Given the description of an element on the screen output the (x, y) to click on. 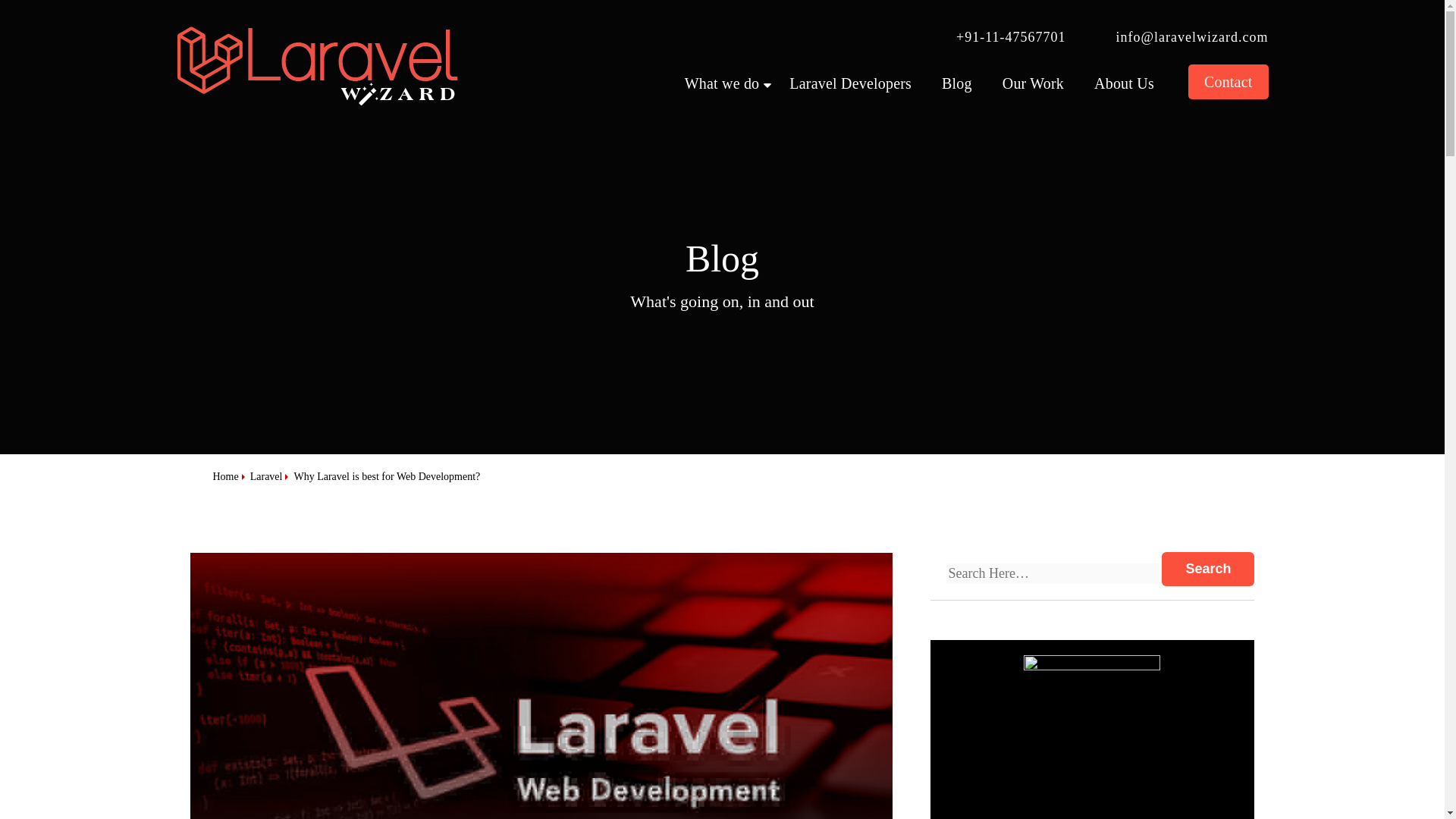
What we do submenu (722, 83)
Search (1207, 569)
What we do (722, 83)
Search (1207, 569)
Our Work (1032, 83)
About Us (1123, 83)
Laravel Developers (849, 83)
Laravel Wizard (316, 65)
Home (225, 476)
Blog (956, 83)
